Given the description of an element on the screen output the (x, y) to click on. 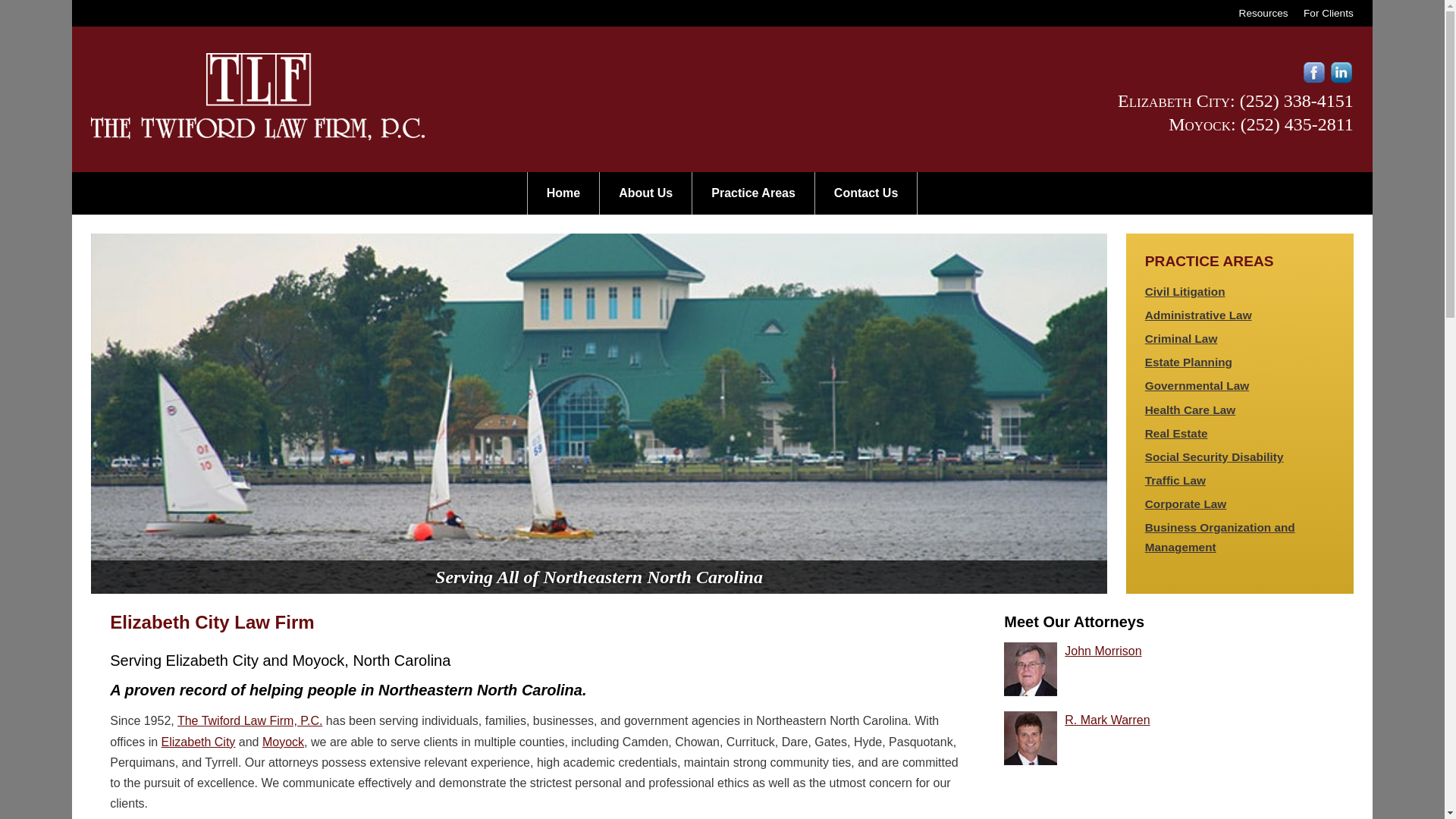
Read more about Estate Planning (1187, 361)
Read more about Administrative Law (1198, 314)
Business Organization and Management (1219, 536)
Governmental Law (1196, 385)
Administrative Law (1198, 314)
Read more about Social Security Disability (1214, 456)
Criminal Law (1180, 338)
Corporate Law (1185, 503)
For Clients (1328, 12)
Read more about Civil Litigation (1184, 291)
Read more about Health Care Law (1190, 409)
Estate Planning (1187, 361)
Civil Litigation (1184, 291)
Read more about Corporate Law (1185, 503)
Social Security Disability (1214, 456)
